Given the description of an element on the screen output the (x, y) to click on. 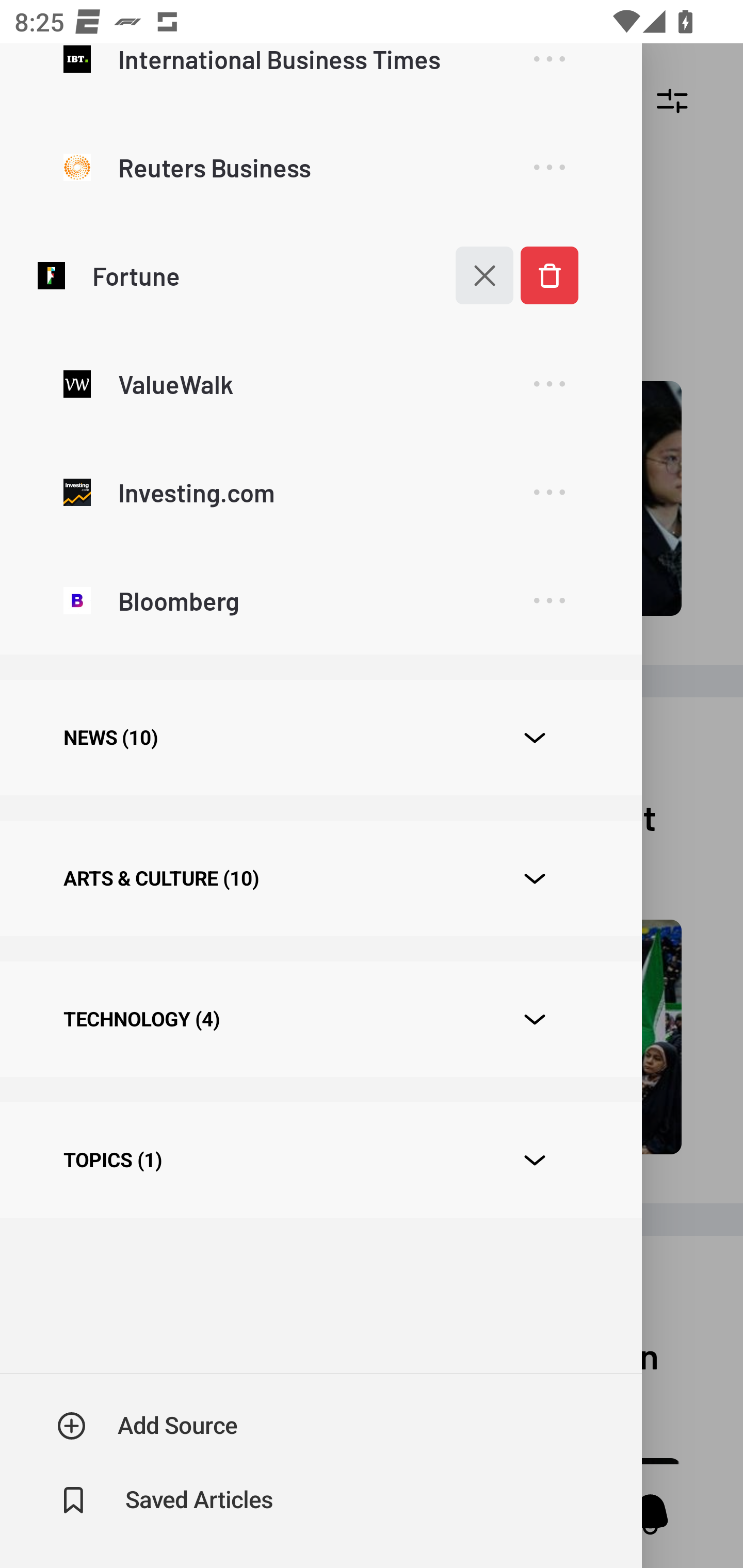
More Options (548, 72)
Writer Logo Reuters Business More Options (320, 166)
More Options (548, 167)
Writer Logo Fortune Cancel Action Remove Source (320, 275)
Cancel Action (473, 275)
Remove Source (548, 275)
Writer Logo ValueWalk More Options (320, 383)
More Options (548, 384)
Writer Logo Investing.com More Options (320, 491)
More Options (548, 493)
Writer Logo Bloomberg More Options (320, 599)
More Options (548, 601)
NEWS  (10) Expand Button (320, 737)
Expand Button (534, 737)
ARTS & CULTURE  (10) Expand Button (320, 878)
Expand Button (534, 878)
TECHNOLOGY  (4) Expand Button (320, 1019)
Expand Button (534, 1019)
TOPICS  (1) Expand Button (320, 1160)
Expand Button (534, 1160)
Open Content Store Add Source (147, 1425)
Open Saved News  Saved Articles (166, 1500)
